Given the description of an element on the screen output the (x, y) to click on. 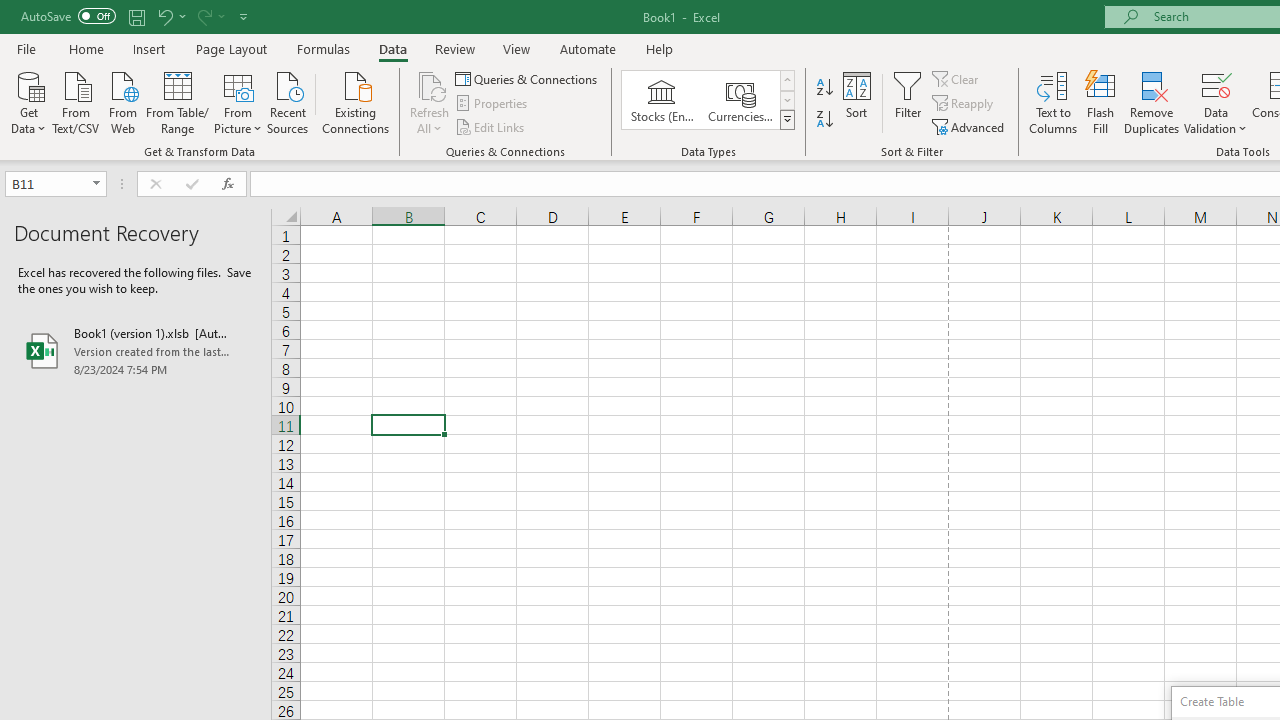
Recent Sources (287, 101)
Sort Z to A (824, 119)
Advanced... (970, 126)
From Picture (238, 101)
Get Data (28, 101)
Currencies (English) (740, 100)
Remove Duplicates (1151, 102)
Existing Connections (355, 101)
Text to Columns... (1053, 102)
From Table/Range (177, 101)
Stocks (English) (662, 100)
